Given the description of an element on the screen output the (x, y) to click on. 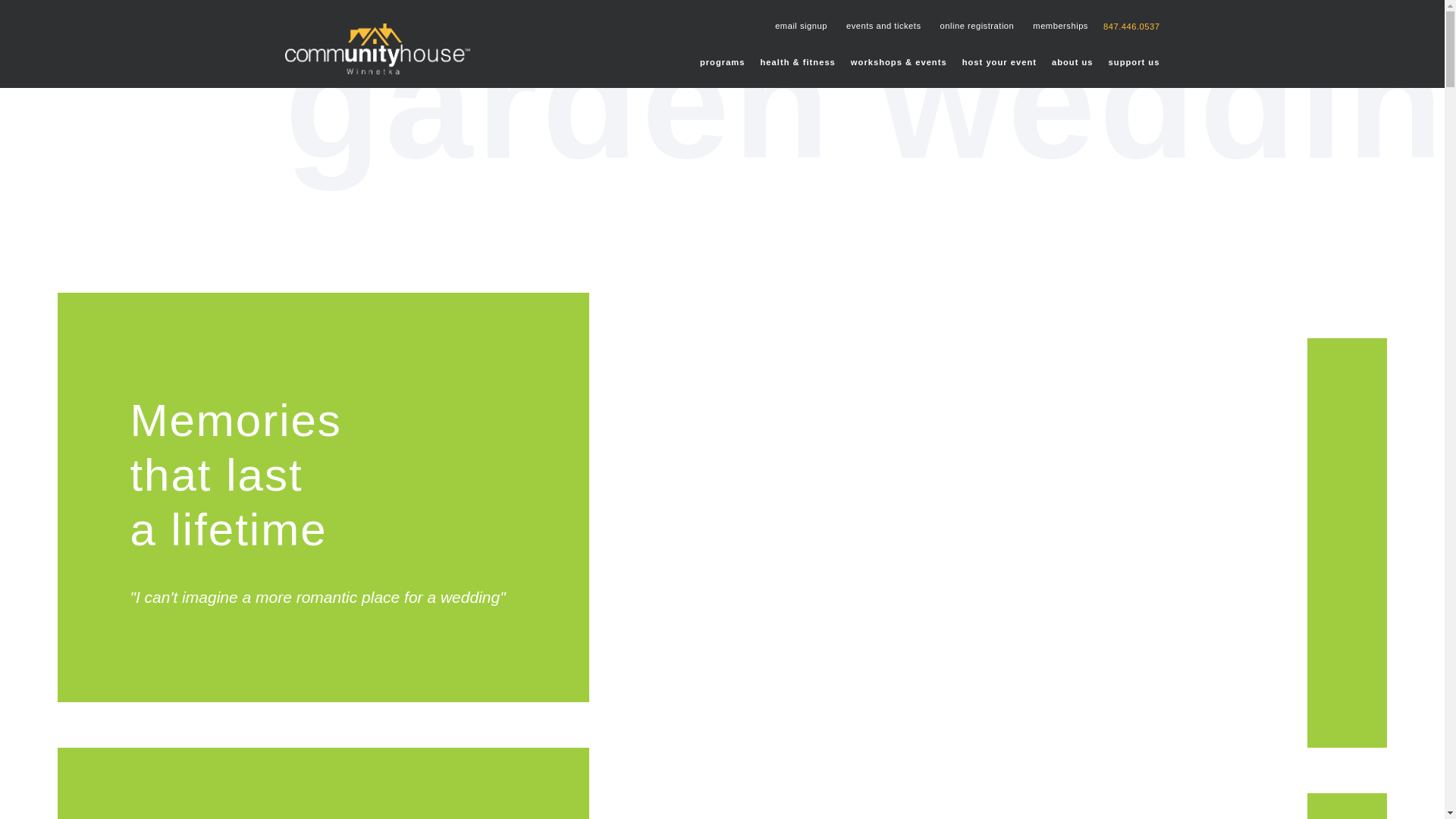
events and tickets (882, 26)
email signup (799, 26)
online registration (974, 26)
programs (722, 61)
847.446.0537 (1130, 26)
memberships (1058, 26)
